Given the description of an element on the screen output the (x, y) to click on. 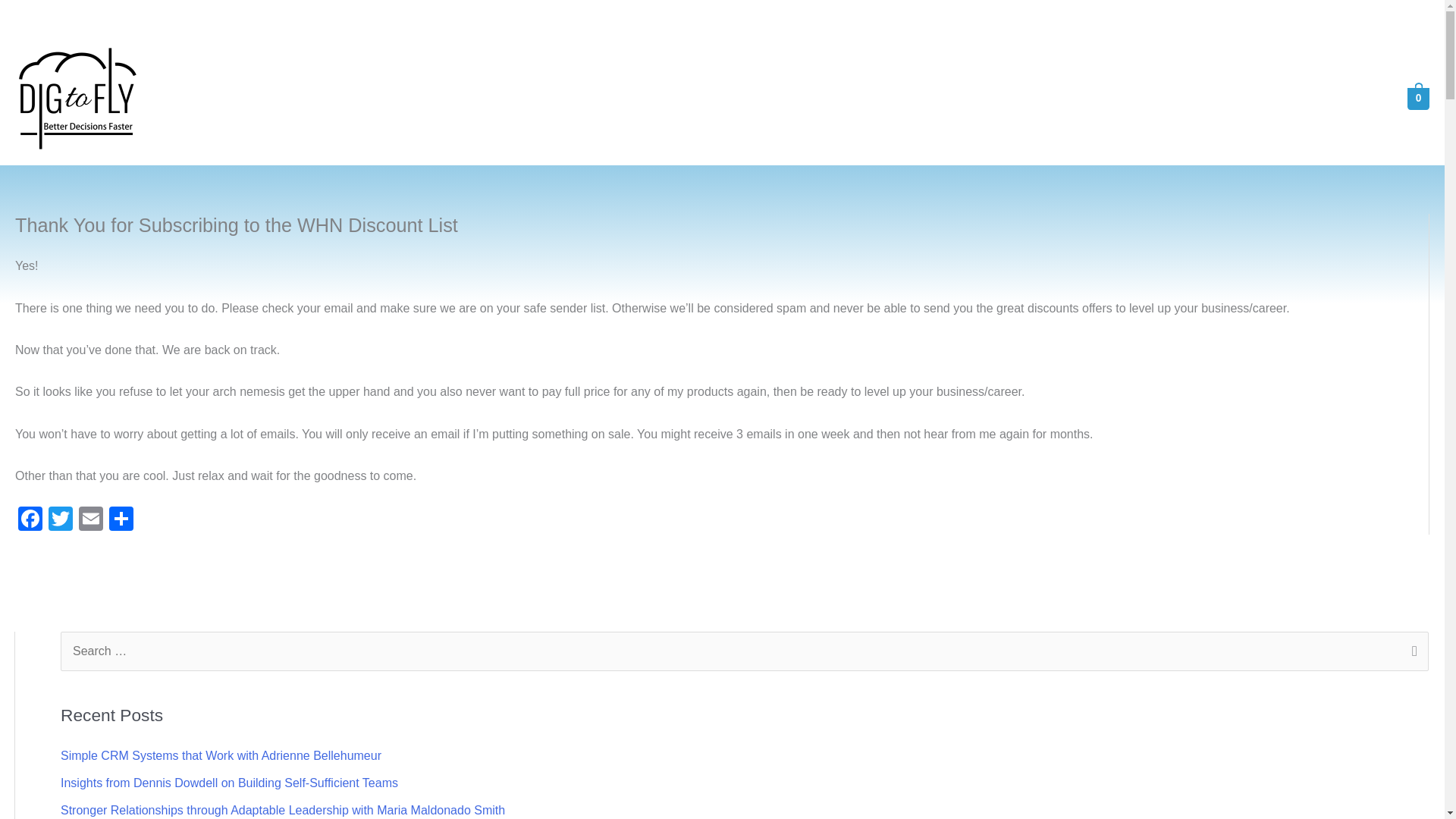
Facebook (29, 520)
Twitter (60, 520)
Shop (1192, 97)
Twitter (60, 520)
Blog (1139, 97)
Cart 0 (1403, 97)
Facebook (29, 520)
Simple CRM Systems that Work with Adrienne Bellehumeur (221, 755)
Newsletter (1334, 97)
Share (121, 520)
About (1083, 97)
Podcast (1255, 97)
Email (90, 520)
